Given the description of an element on the screen output the (x, y) to click on. 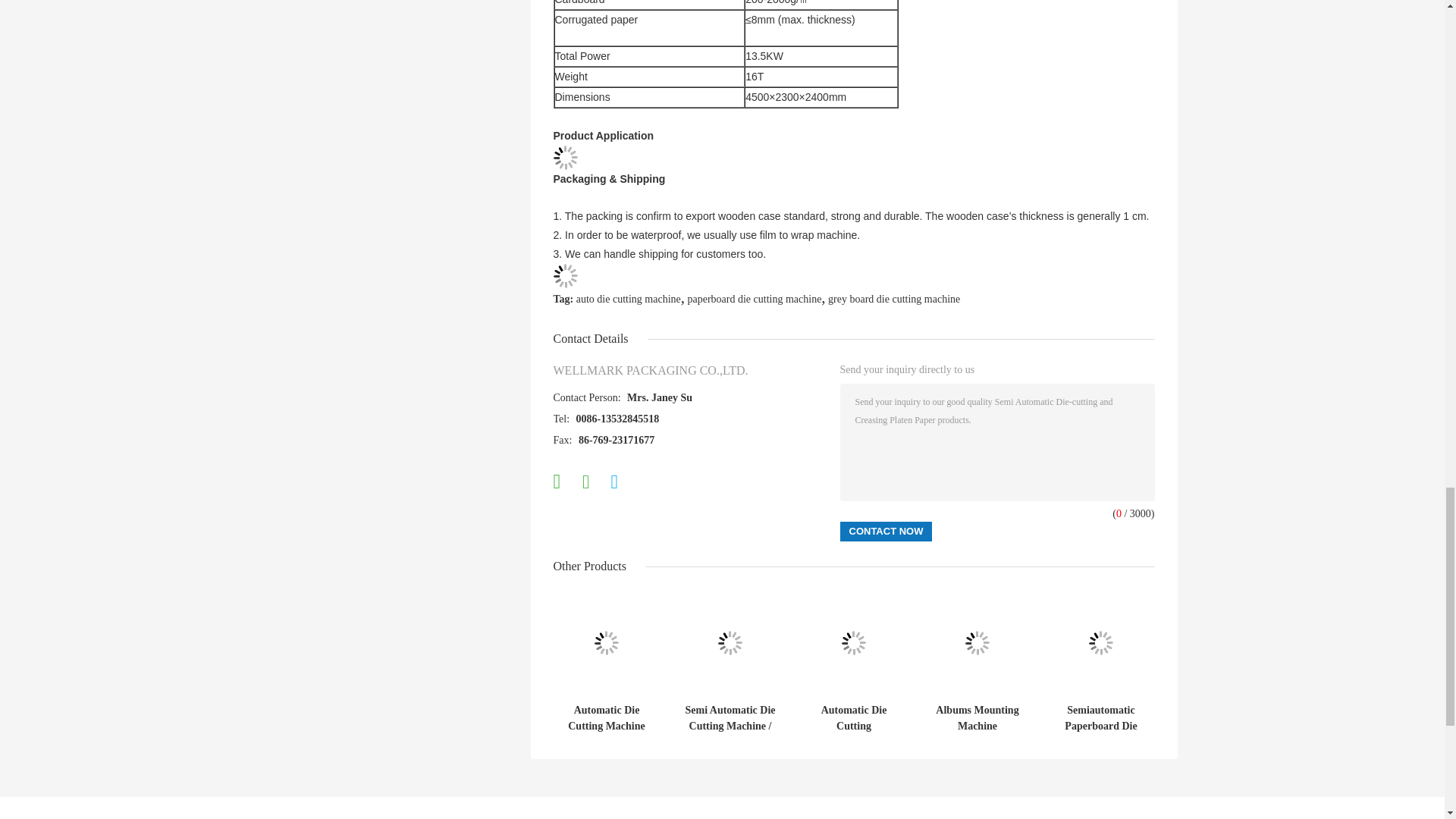
Contact Now (886, 531)
